Given the description of an element on the screen output the (x, y) to click on. 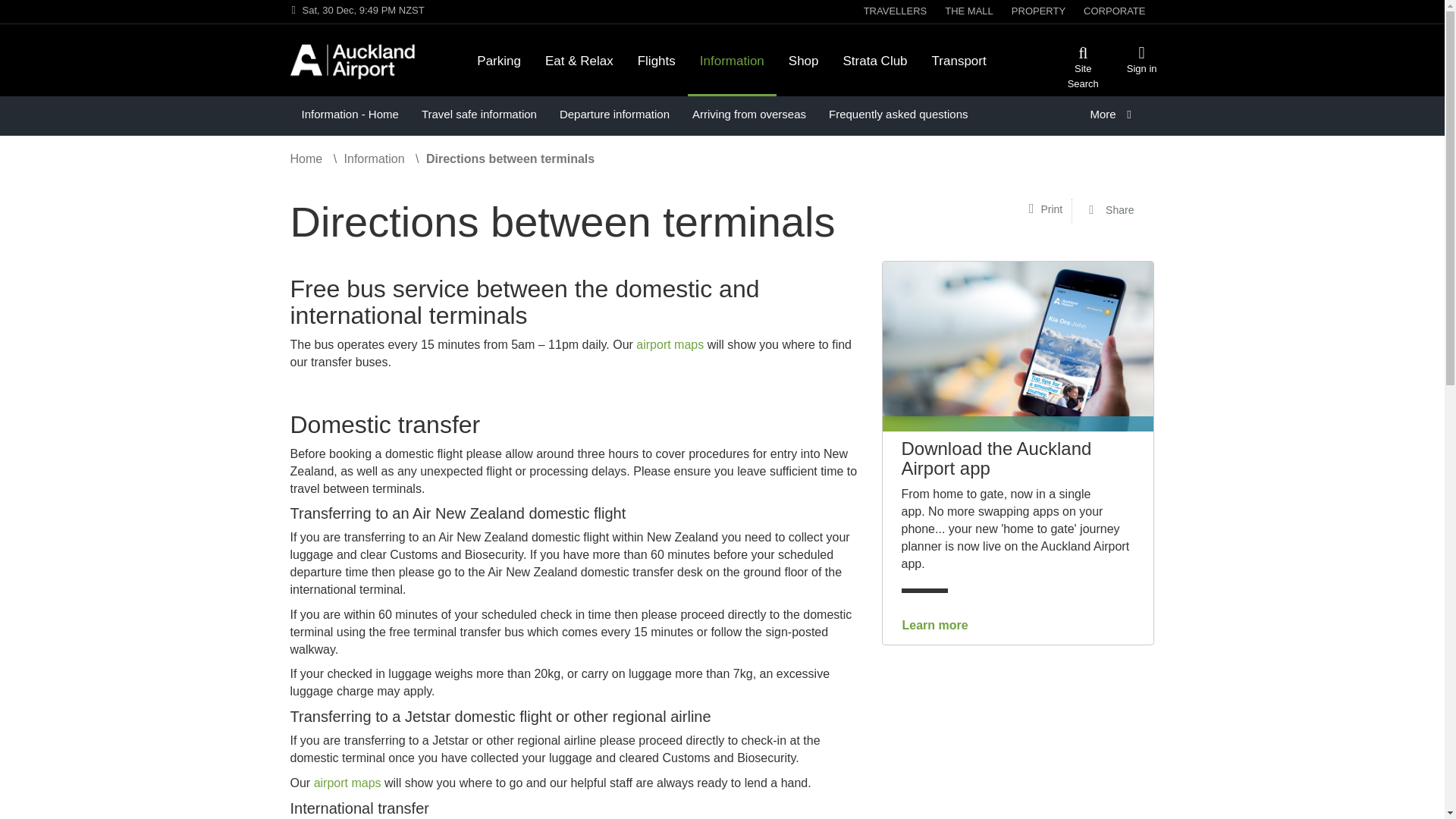
TRAVELLERS (895, 11)
Sign in (1141, 68)
Parking (498, 51)
Site Search (1083, 76)
CORPORATE (1114, 11)
THE MALL (969, 11)
PROPERTY (1038, 11)
